Given the description of an element on the screen output the (x, y) to click on. 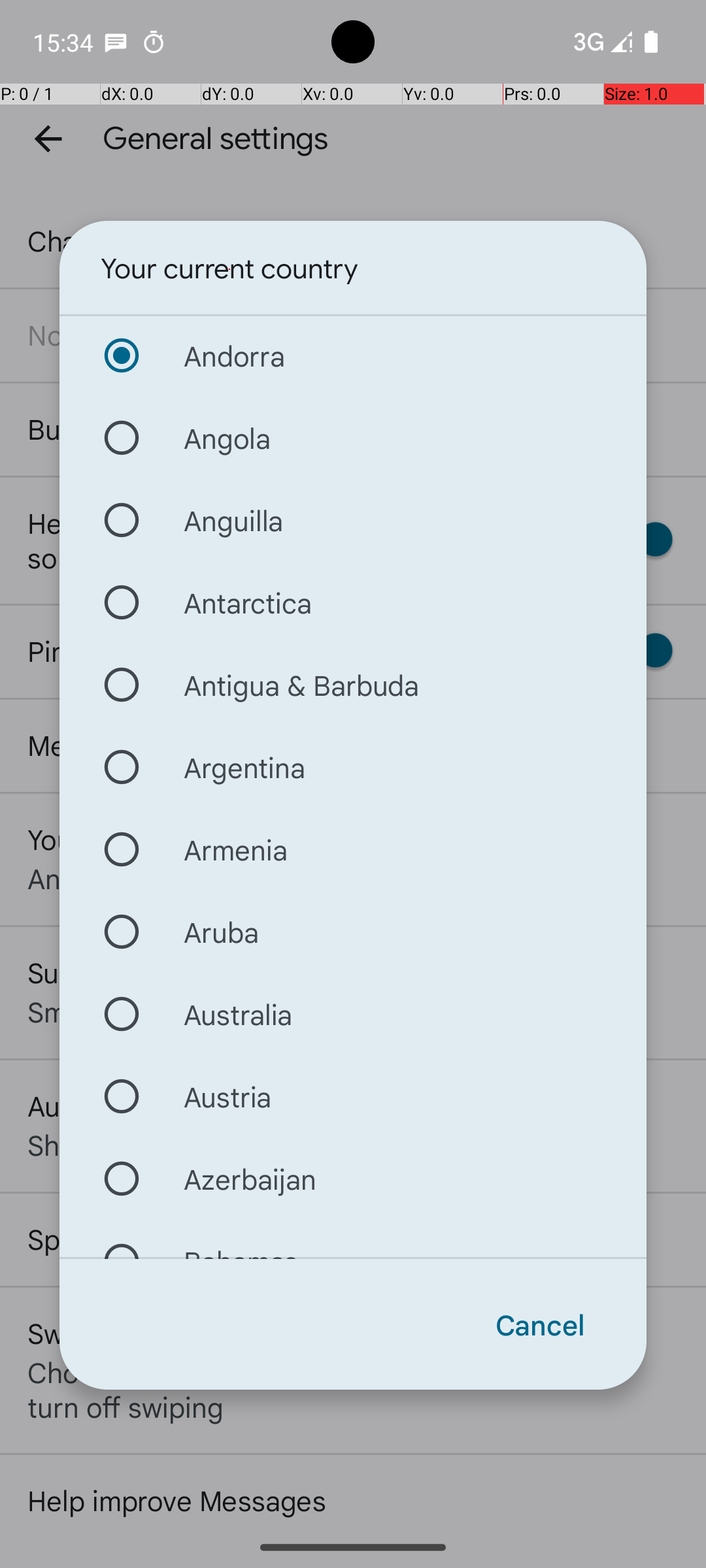
Your current country Element type: android.widget.TextView (229, 268)
Andorra Element type: android.widget.CheckedTextView (352, 355)
Angola Element type: android.widget.CheckedTextView (352, 437)
Anguilla Element type: android.widget.CheckedTextView (352, 519)
Antarctica Element type: android.widget.CheckedTextView (352, 602)
Antigua & Barbuda Element type: android.widget.CheckedTextView (352, 684)
Argentina Element type: android.widget.CheckedTextView (352, 766)
Armenia Element type: android.widget.CheckedTextView (352, 849)
Aruba Element type: android.widget.CheckedTextView (352, 931)
Australia Element type: android.widget.CheckedTextView (352, 1013)
Austria Element type: android.widget.CheckedTextView (352, 1096)
Azerbaijan Element type: android.widget.CheckedTextView (352, 1178)
Bahamas Element type: android.widget.CheckedTextView (352, 1238)
